Given the description of an element on the screen output the (x, y) to click on. 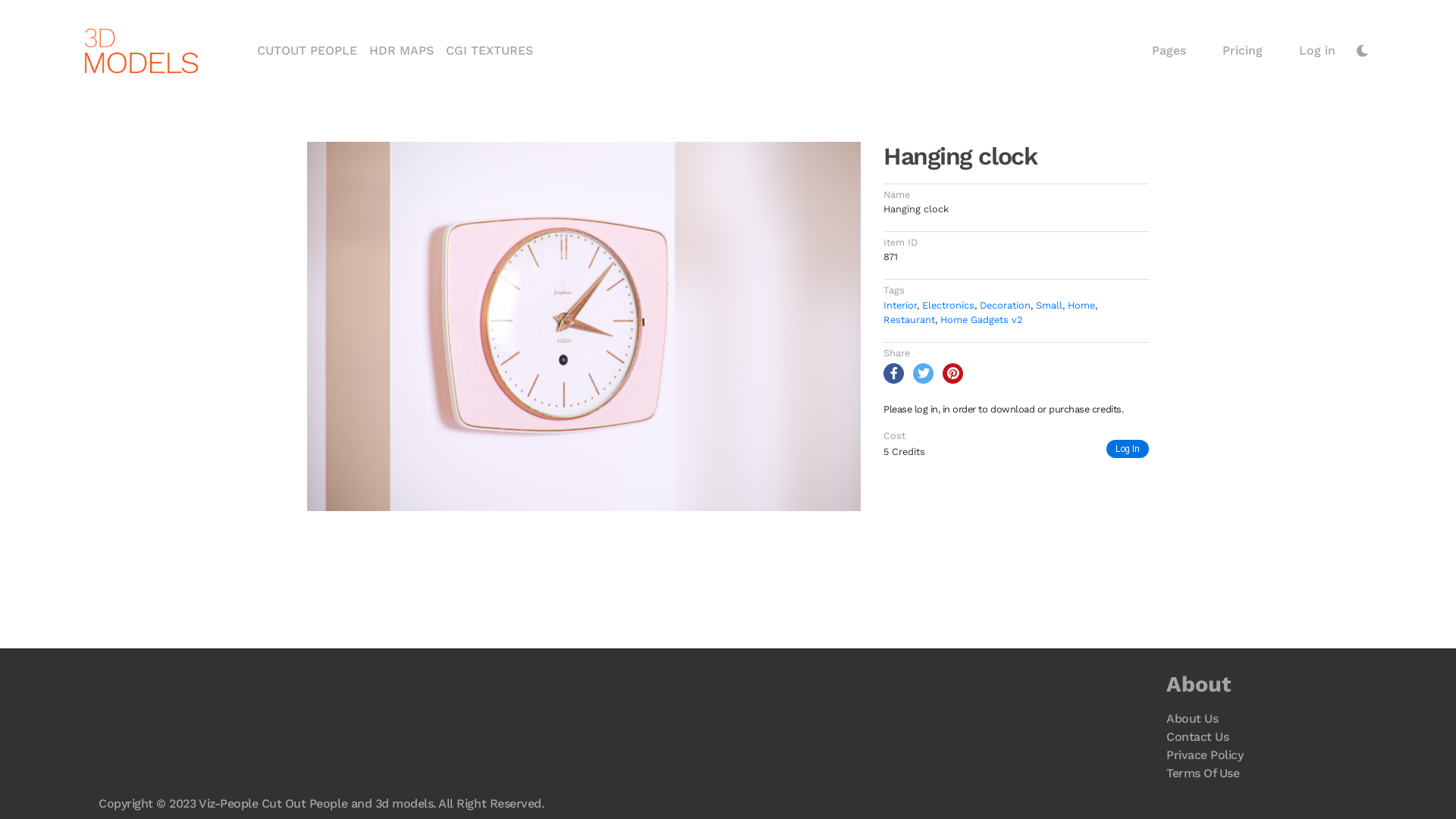
CUTOUT PEOPLE
(CURRENT) Element type: text (307, 50)
Restaurant Element type: text (909, 319)
Contact Us Element type: text (1197, 736)
Decoration Element type: text (1004, 304)
Pages Element type: text (1168, 50)
Electronics Element type: text (948, 304)
Home Gadgets v2 Element type: text (981, 319)
switch to night mode Element type: hover (1362, 50)
Hanging clock Element type: hover (583, 326)
Terms Of Use Element type: text (1202, 772)
Small Element type: text (1048, 304)
CGI TEXTURES Element type: text (486, 50)
Home Element type: text (1081, 304)
Log In Element type: text (1127, 448)
Tags Element type: text (893, 289)
Log in Element type: text (1316, 50)
Privace Policy Element type: text (1204, 754)
Pricing Element type: text (1242, 50)
Interior Element type: text (899, 304)
HDR MAPS Element type: text (401, 50)
About Us Element type: text (1191, 718)
